Given the description of an element on the screen output the (x, y) to click on. 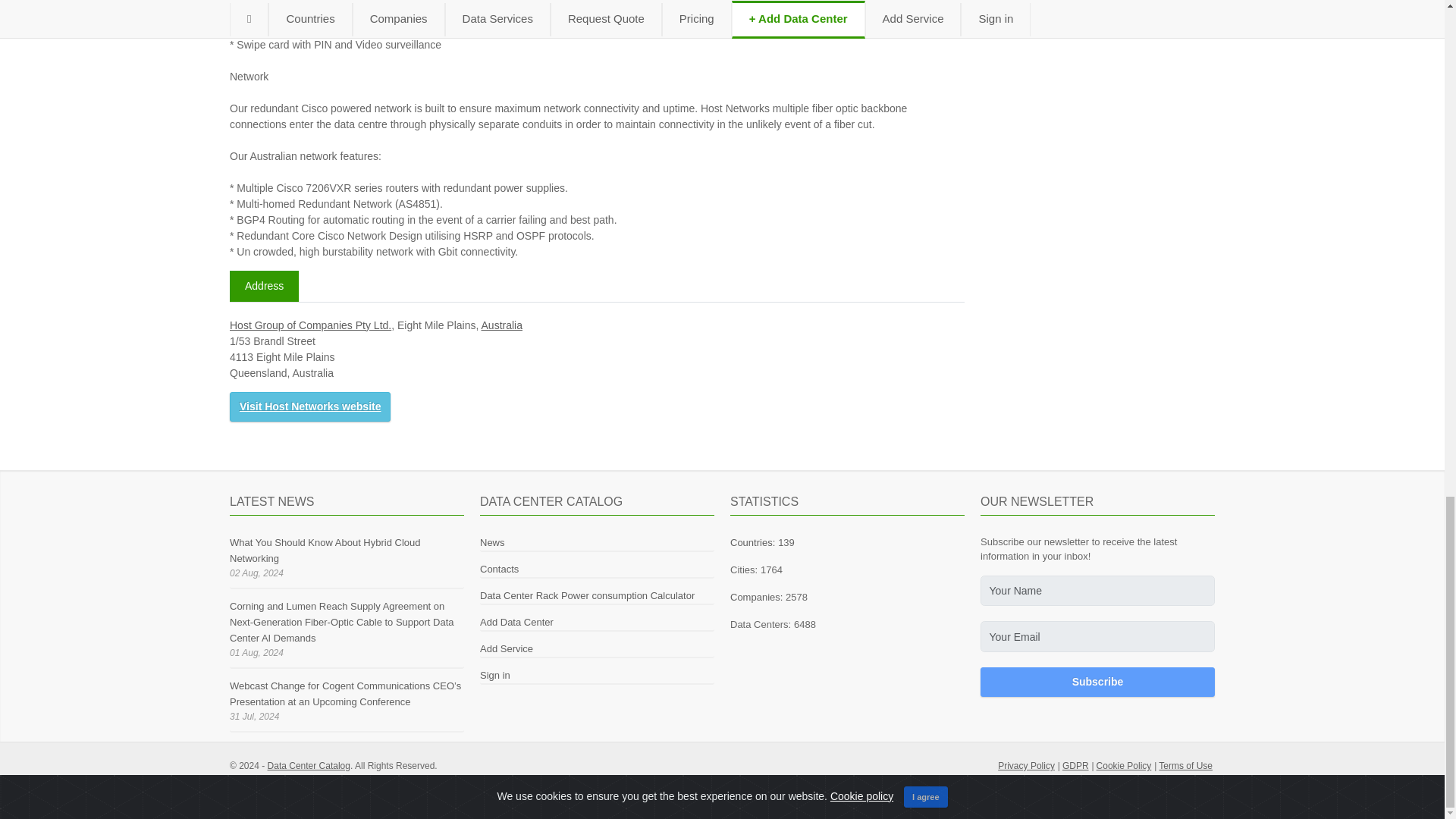
Address (264, 286)
Australia (501, 325)
Host Group of Companies Pty Ltd. (310, 325)
Visit Host Networks website (310, 406)
